Given the description of an element on the screen output the (x, y) to click on. 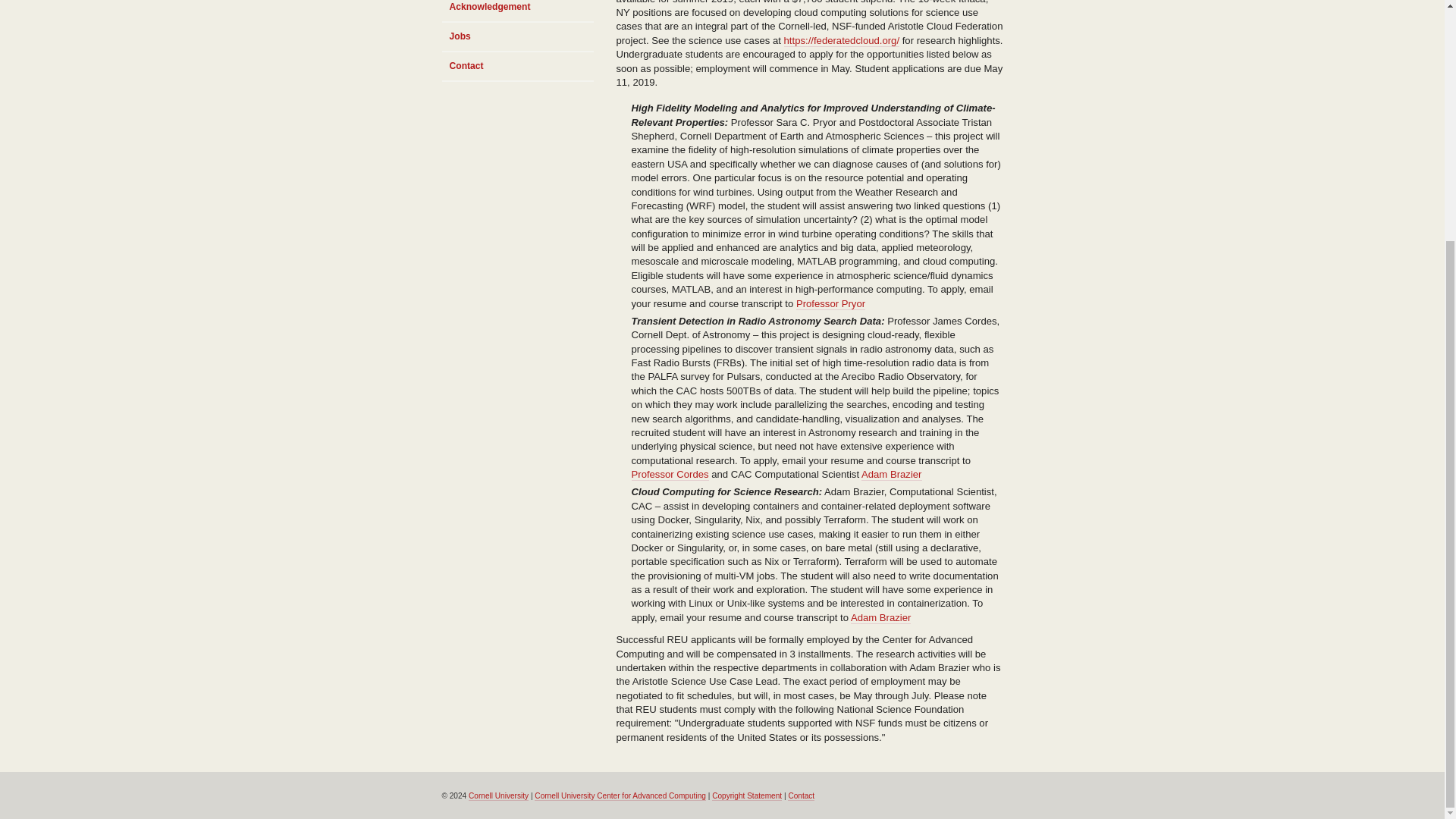
Contact (516, 66)
Jobs (516, 37)
Professor Cordes (668, 474)
Professor Pryor (830, 304)
Cornell University Center for Advanced Computing (620, 795)
Copyright Statement (746, 795)
Adam Brazier (891, 474)
Adam Brazier (880, 617)
Acknowledgement (516, 11)
Cornell University (498, 795)
Contact (800, 795)
